Given the description of an element on the screen output the (x, y) to click on. 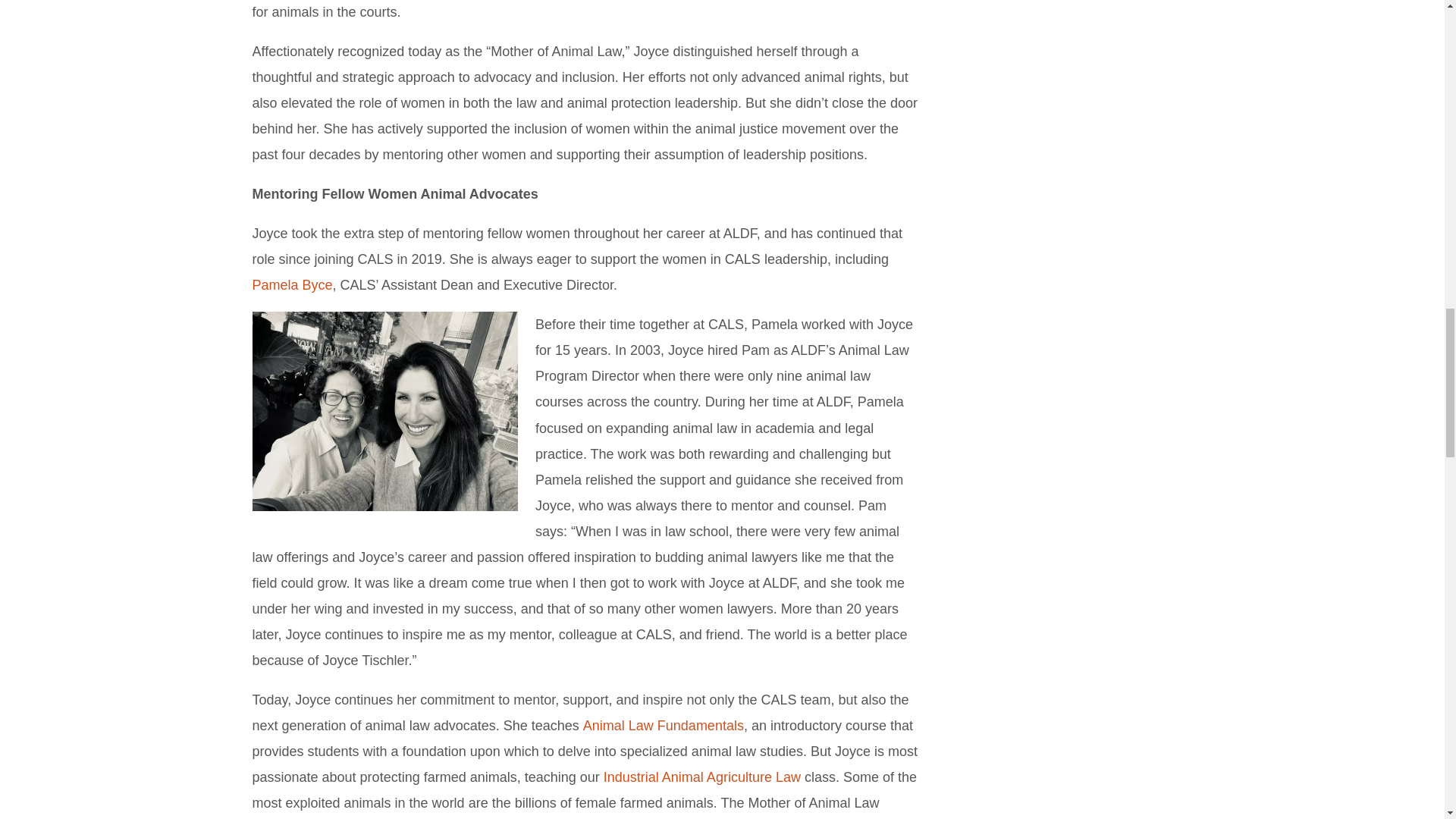
IMG 9978 (383, 411)
Pamela Byce (291, 284)
Industrial Animal Agriculture Law (702, 776)
Animal Law Fundamentals (663, 725)
